Given the description of an element on the screen output the (x, y) to click on. 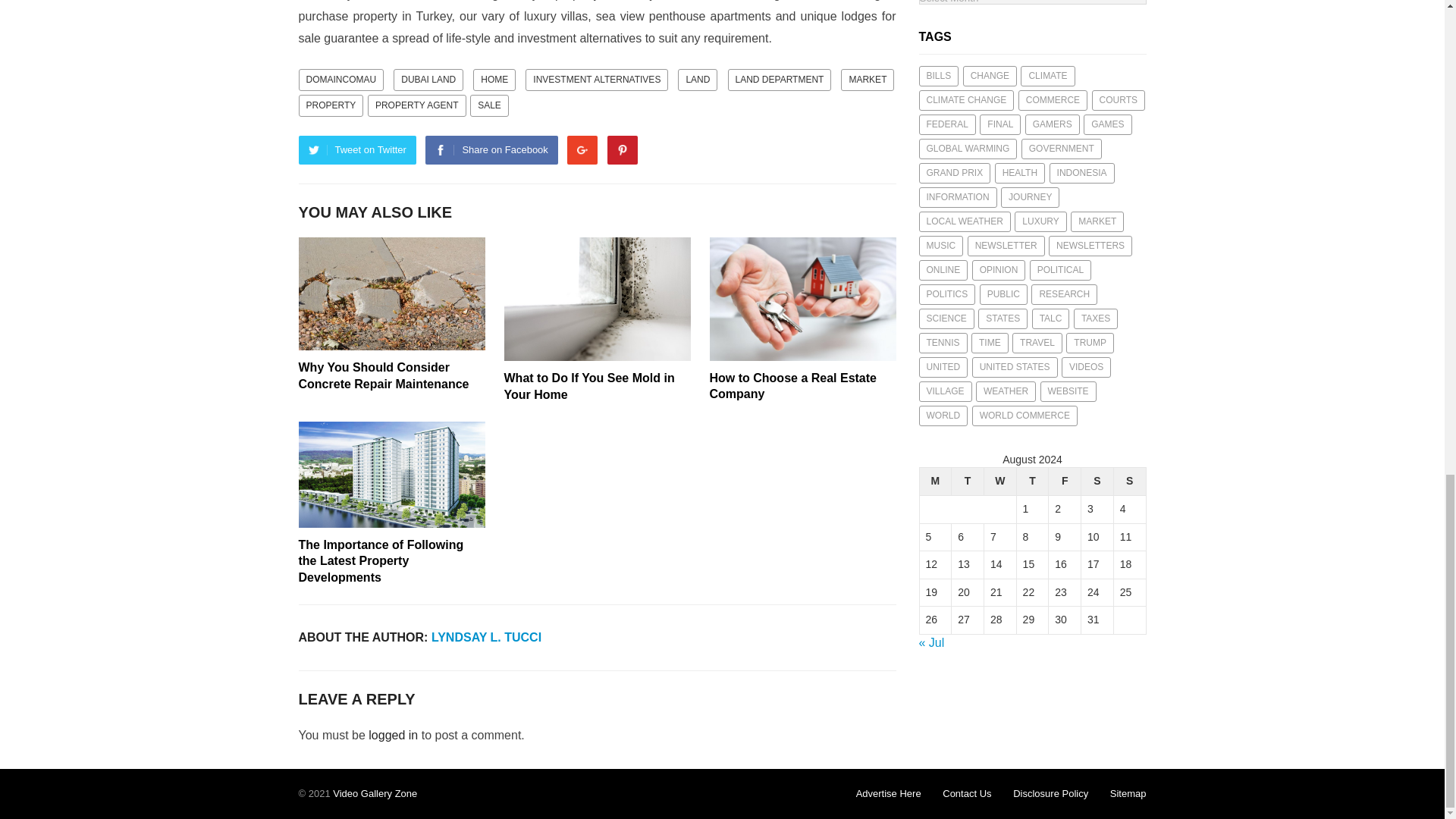
The Importance of Following the Latest Property Developments (391, 474)
Monday (935, 481)
Why You Should Consider Concrete Repair Maintenance (391, 293)
What to Do If You See Mold in Your Home (596, 299)
How to Choose a Real Estate Company (803, 299)
